Given the description of an element on the screen output the (x, y) to click on. 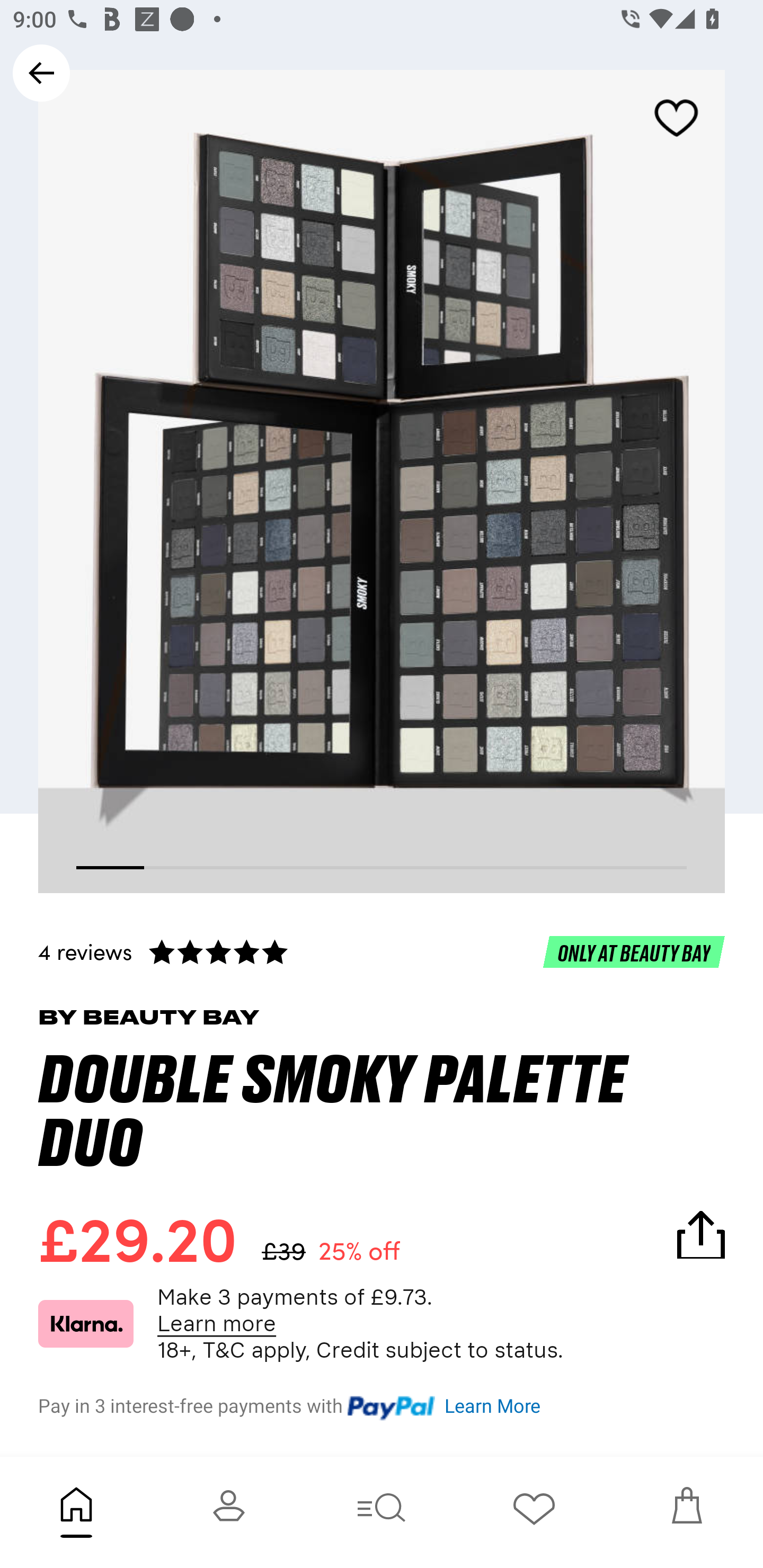
4 reviews (381, 950)
Pay in 3 interest-free payments with 0  Learn More (381, 1403)
